Given the description of an element on the screen output the (x, y) to click on. 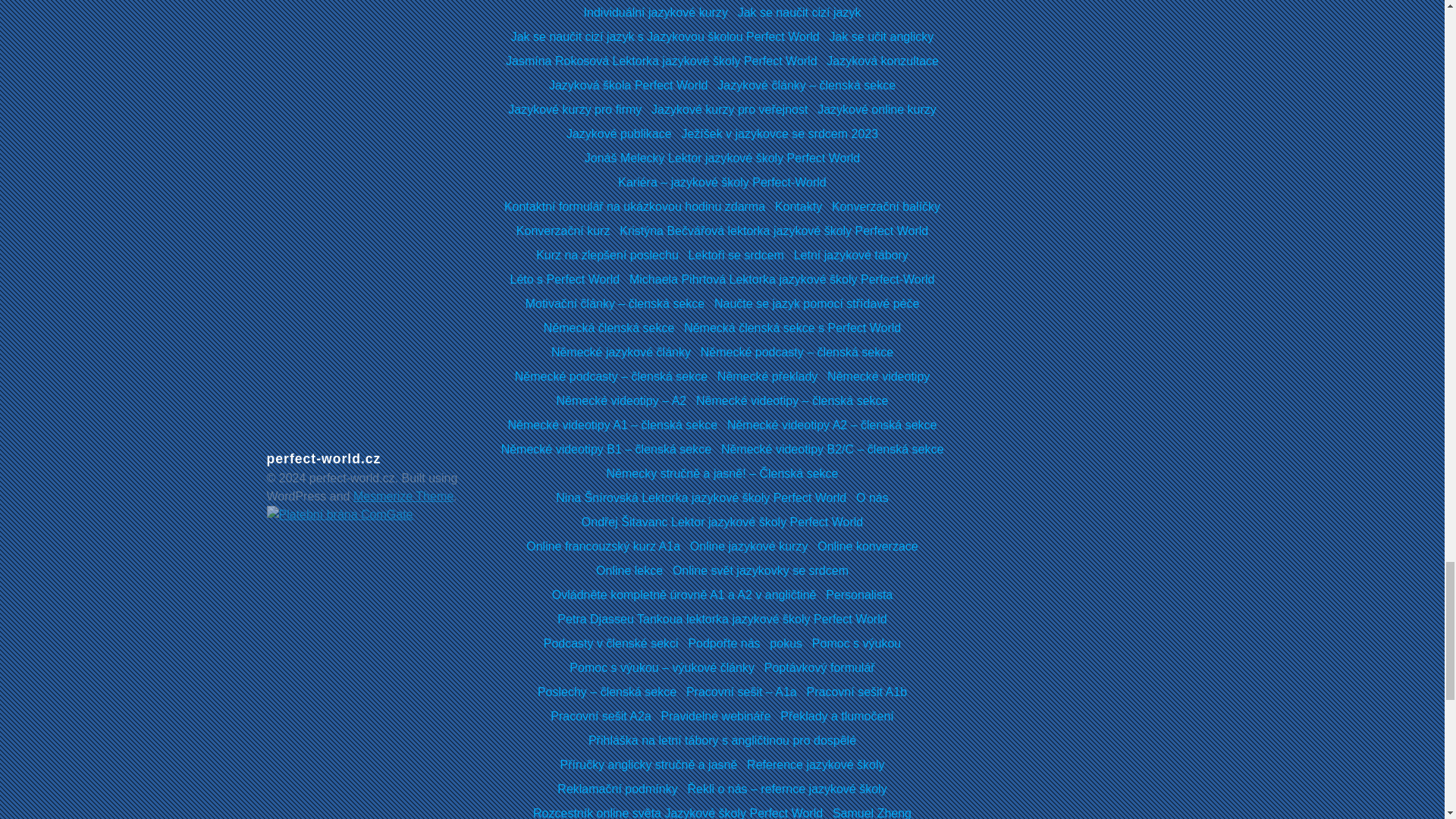
Mesmerize Theme (402, 495)
